Given the description of an element on the screen output the (x, y) to click on. 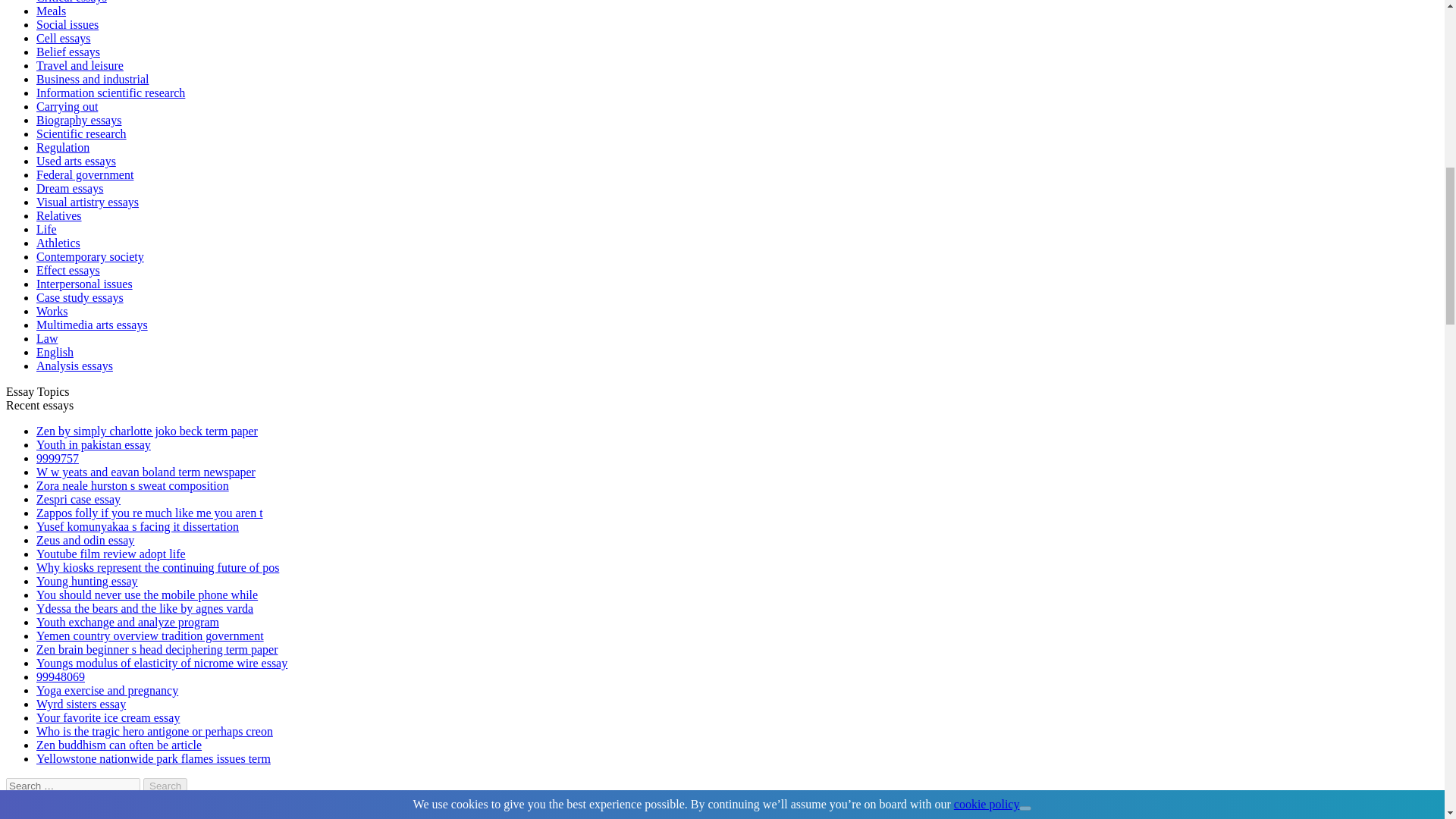
Regulation (62, 146)
Social issues (67, 24)
Travel and leisure (79, 65)
Used arts essays (76, 160)
Meals (50, 10)
Carrying out (66, 106)
Business and industrial (92, 78)
Cell essays (63, 38)
Search (164, 785)
Scientific research (81, 133)
